Given the description of an element on the screen output the (x, y) to click on. 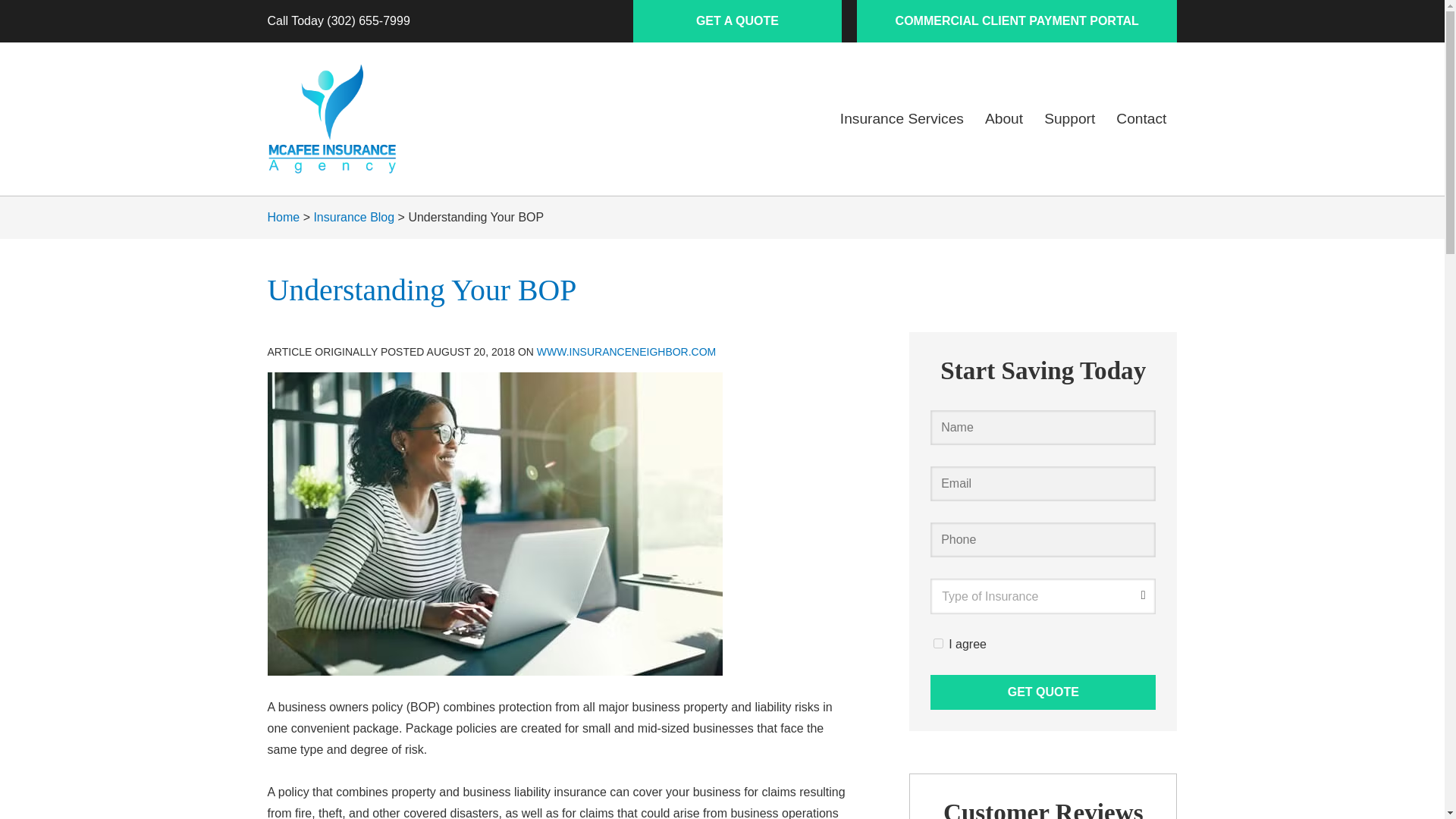
Support (1069, 118)
logo (331, 118)
Insurance Services (901, 118)
I agree (938, 643)
Commercial Client Payment Portal (1016, 21)
GET A QUOTE (737, 21)
About (1003, 118)
Get Quote (1043, 692)
